Given the description of an element on the screen output the (x, y) to click on. 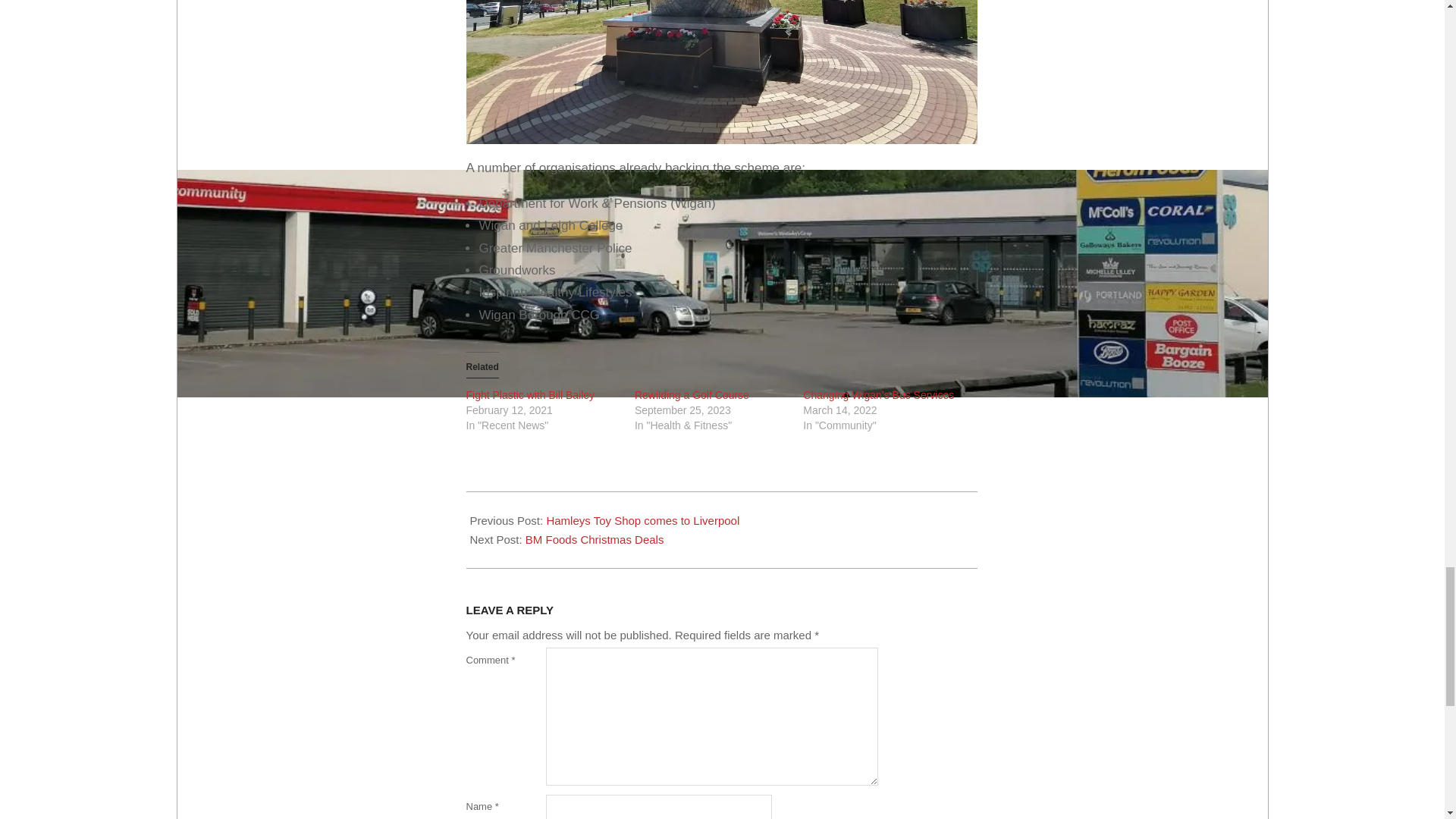
Rewilding a Golf Course (691, 395)
Fight Plastic with Bill Bailey (529, 395)
Rewilding a Golf Course (691, 395)
Hamleys Toy Shop comes to Liverpool (642, 520)
BM Foods Christmas Deals (594, 539)
Fight Plastic with Bill Bailey (529, 395)
